Given the description of an element on the screen output the (x, y) to click on. 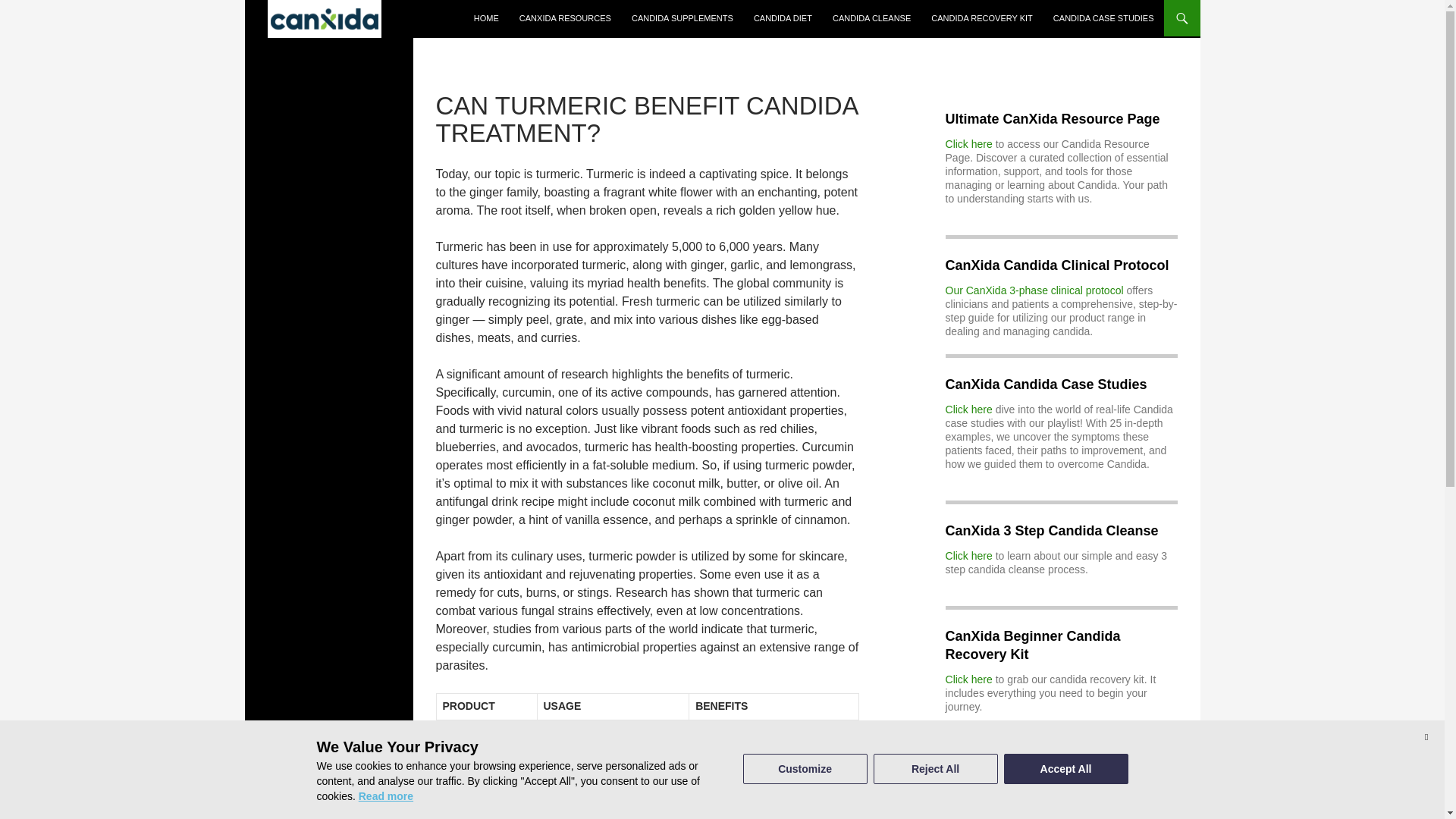
CANDIDA SUPPLEMENTS (682, 18)
Click here (968, 409)
HOME (486, 18)
Our CanXida 3-phase clinical protocol (1034, 290)
CANDIDA DIET (782, 18)
The MEVY Diet for Vegetarians and Vegans (1047, 808)
Click here (968, 555)
CANDIDA CASE STUDIES (1103, 18)
CanXida Blog (323, 18)
